Given the description of an element on the screen output the (x, y) to click on. 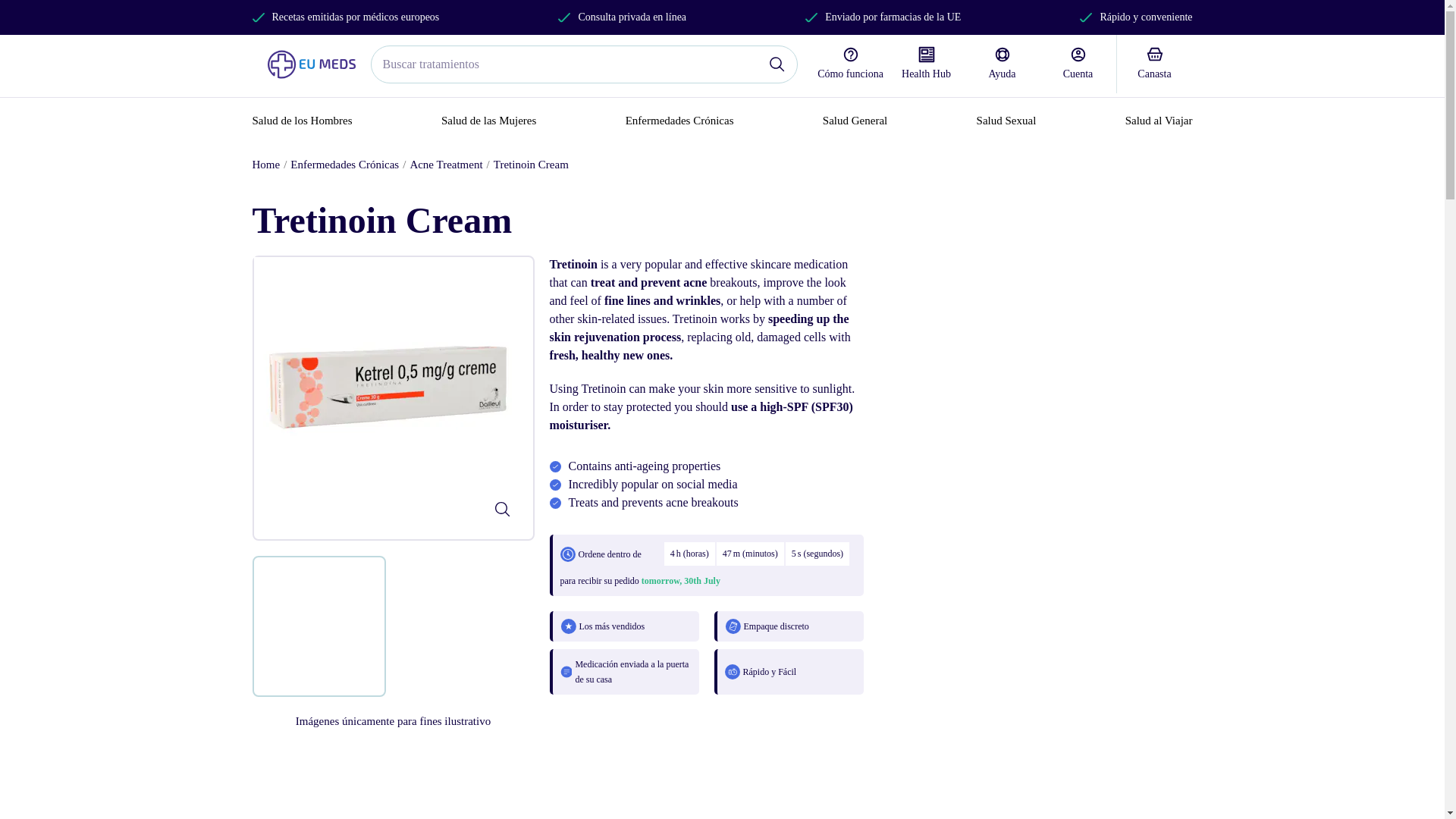
Canasta (1154, 64)
Salud de las Mujeres (488, 120)
Salud Sexual (1006, 120)
Salud al Viajar (1158, 120)
Cuenta (1078, 64)
Salud de los Hombres (301, 120)
Canasta (1154, 64)
Cuenta (1078, 64)
Health Hub (925, 64)
Health Hub (925, 64)
Ayuda (1002, 64)
Salud General (854, 120)
Home (265, 164)
Acne Treatment (445, 164)
